Given the description of an element on the screen output the (x, y) to click on. 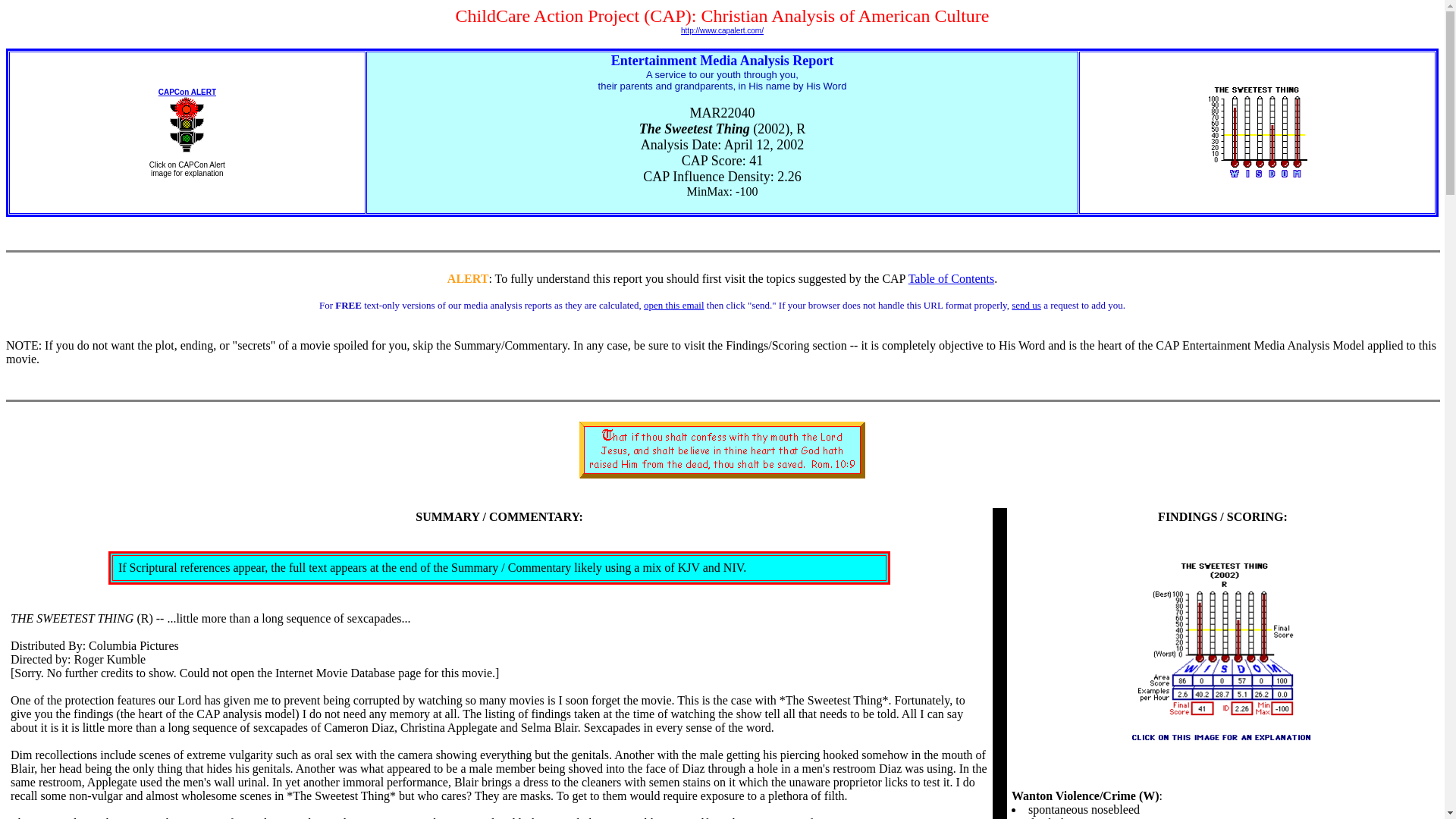
open this email (673, 305)
send us (1026, 305)
Table of Contents (951, 278)
